Given the description of an element on the screen output the (x, y) to click on. 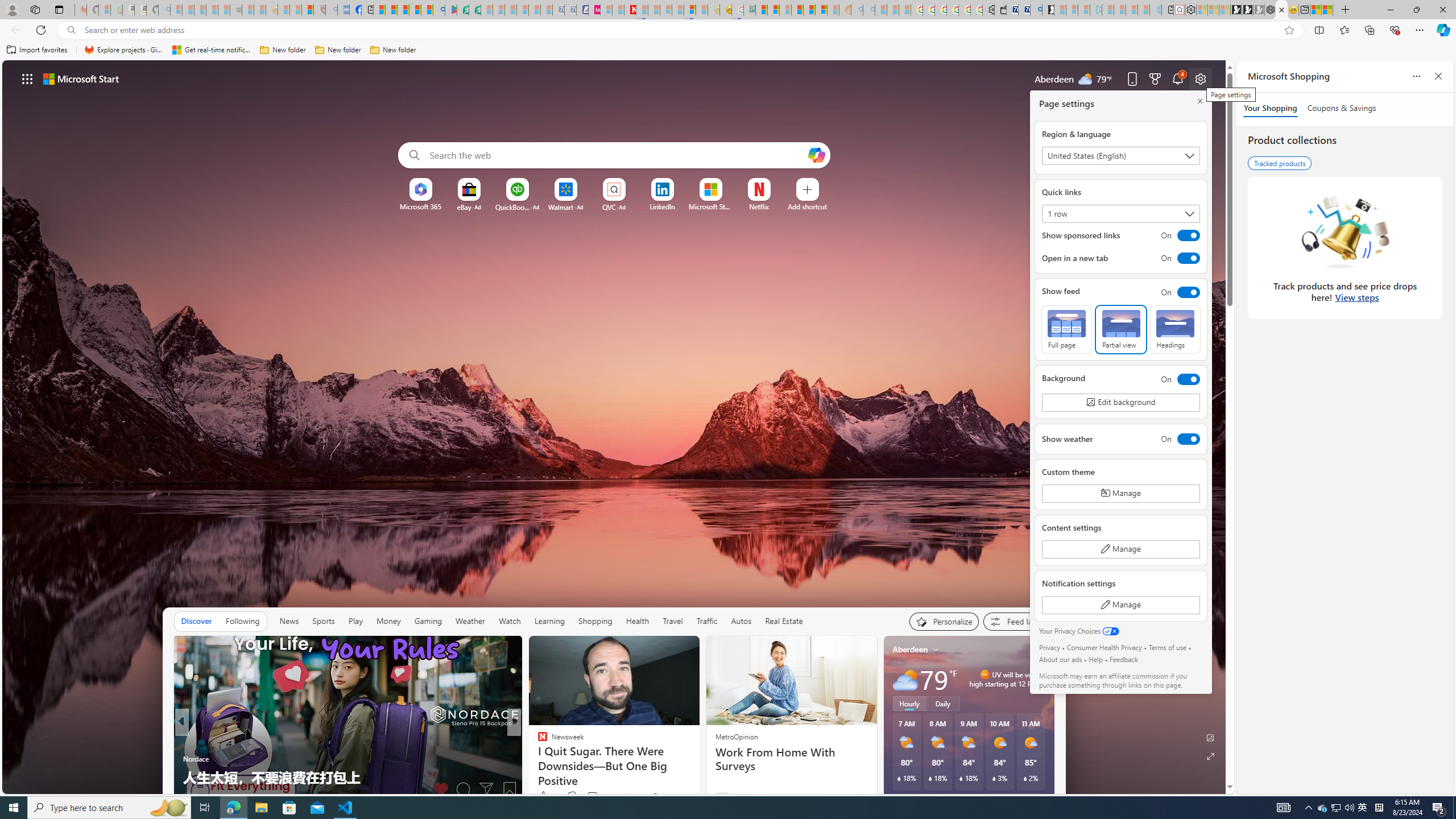
The Weather Channel - MSN - Sleeping (200, 9)
Real Estate (783, 621)
On (1176, 378)
View comments 116 Comment (592, 795)
Import favorites (36, 49)
Mostly cloudy (904, 678)
